Given the description of an element on the screen output the (x, y) to click on. 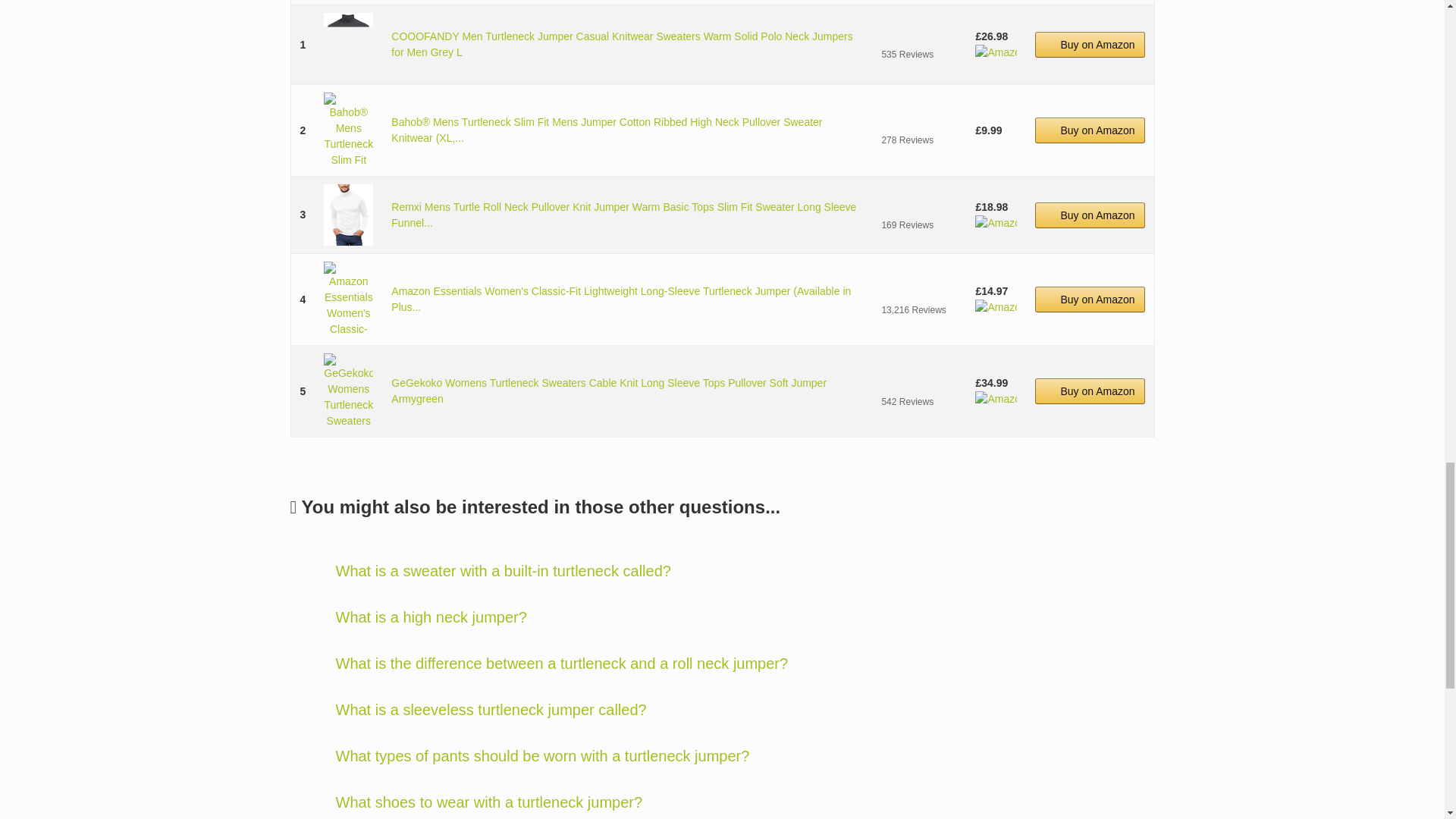
Buy on Amazon (1089, 130)
Buy on Amazon (1089, 215)
Reviews on Amazon (918, 206)
Reviews on Amazon (918, 121)
Reviews on Amazon (918, 36)
Buy on Amazon (1089, 44)
Reviews on Amazon (918, 291)
Amazon Prime (995, 51)
